Given the description of an element on the screen output the (x, y) to click on. 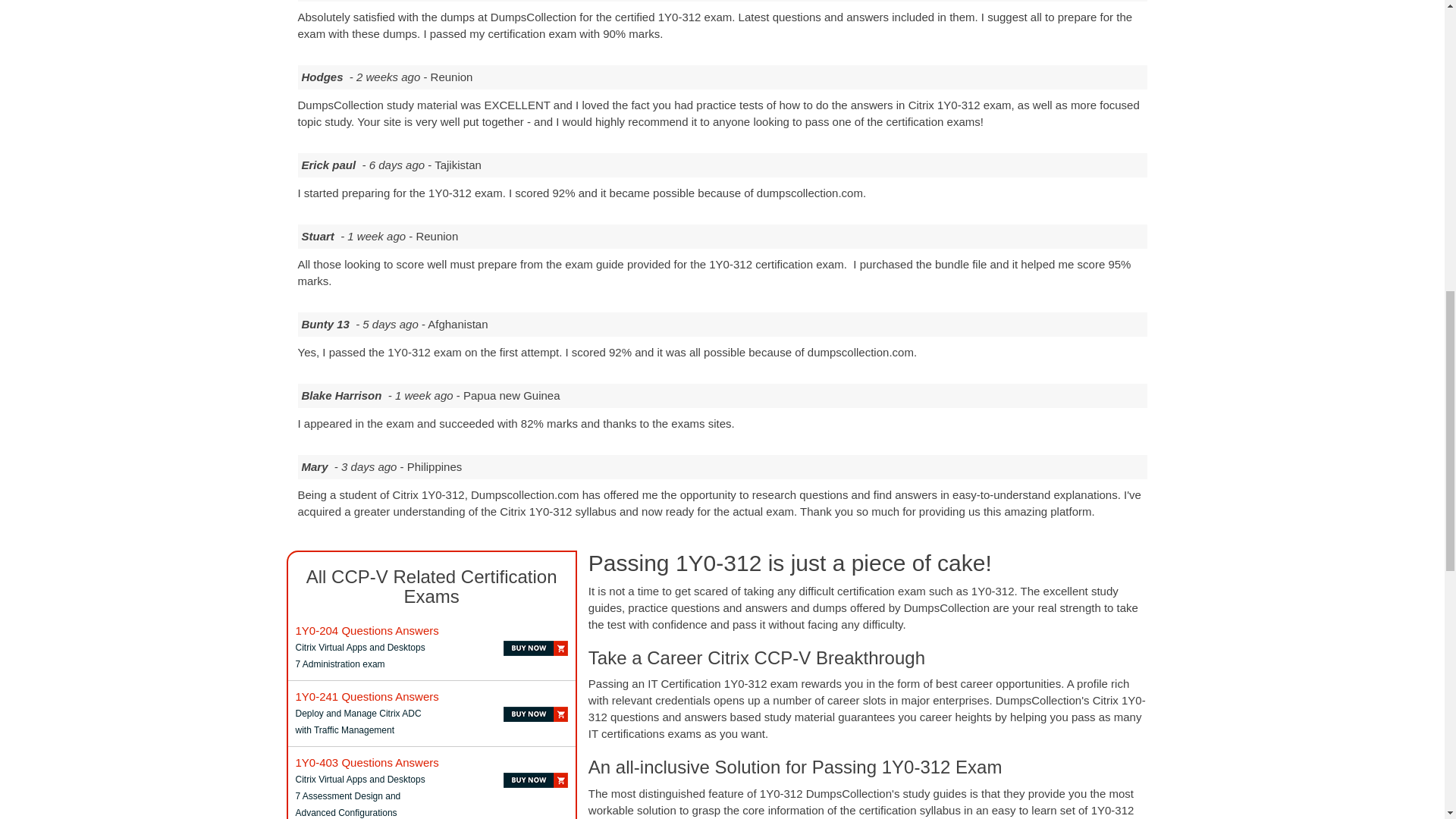
1Y0-241 Questions Answers (367, 696)
1Y0-204 Questions Answers (367, 630)
Deploy and Manage Citrix ADC with Traffic Management (367, 696)
1Y0-403 Questions Answers (367, 762)
Citrix Virtual Apps and Desktops 7 Administration exam (367, 630)
